Given the description of an element on the screen output the (x, y) to click on. 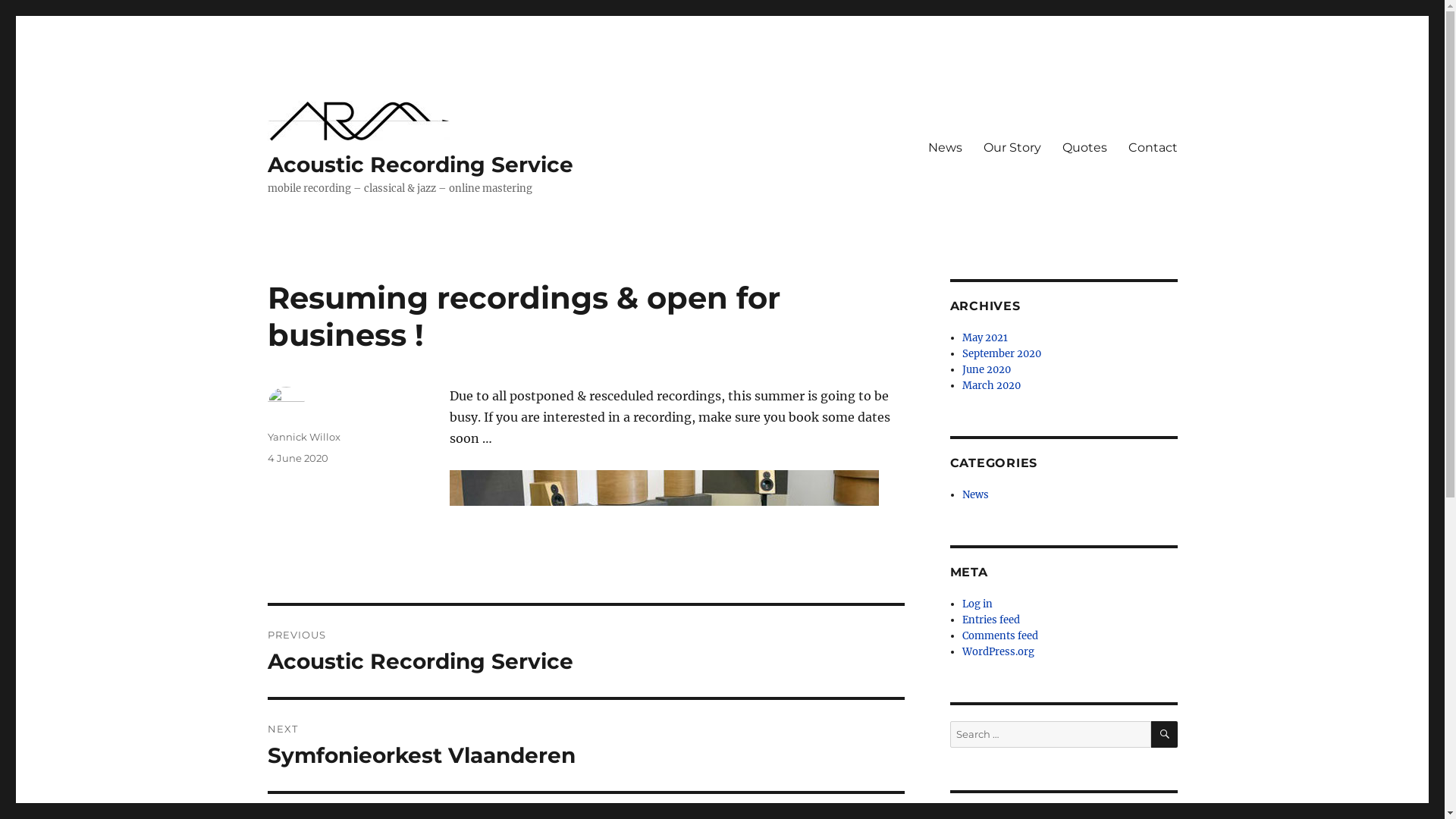
Contact Element type: text (1152, 147)
Our Story Element type: text (1011, 147)
September 2020 Element type: text (1001, 353)
Acoustic Recording Service Element type: text (419, 164)
News Element type: text (975, 494)
May 2021 Element type: text (984, 337)
PREVIOUS
Previous post:
Acoustic Recording Service Element type: text (584, 650)
WordPress.org Element type: text (998, 651)
June 2020 Element type: text (986, 369)
NEXT
Next post:
Symfonieorkest Vlaanderen Element type: text (584, 744)
4 June 2020 Element type: text (296, 457)
Entries feed Element type: text (990, 619)
Comments feed Element type: text (1000, 635)
News Element type: text (944, 147)
March 2020 Element type: text (991, 385)
Quotes Element type: text (1084, 147)
Log in Element type: text (977, 603)
SEARCH Element type: text (1164, 734)
Yannick Willox Element type: text (302, 436)
